Given the description of an element on the screen output the (x, y) to click on. 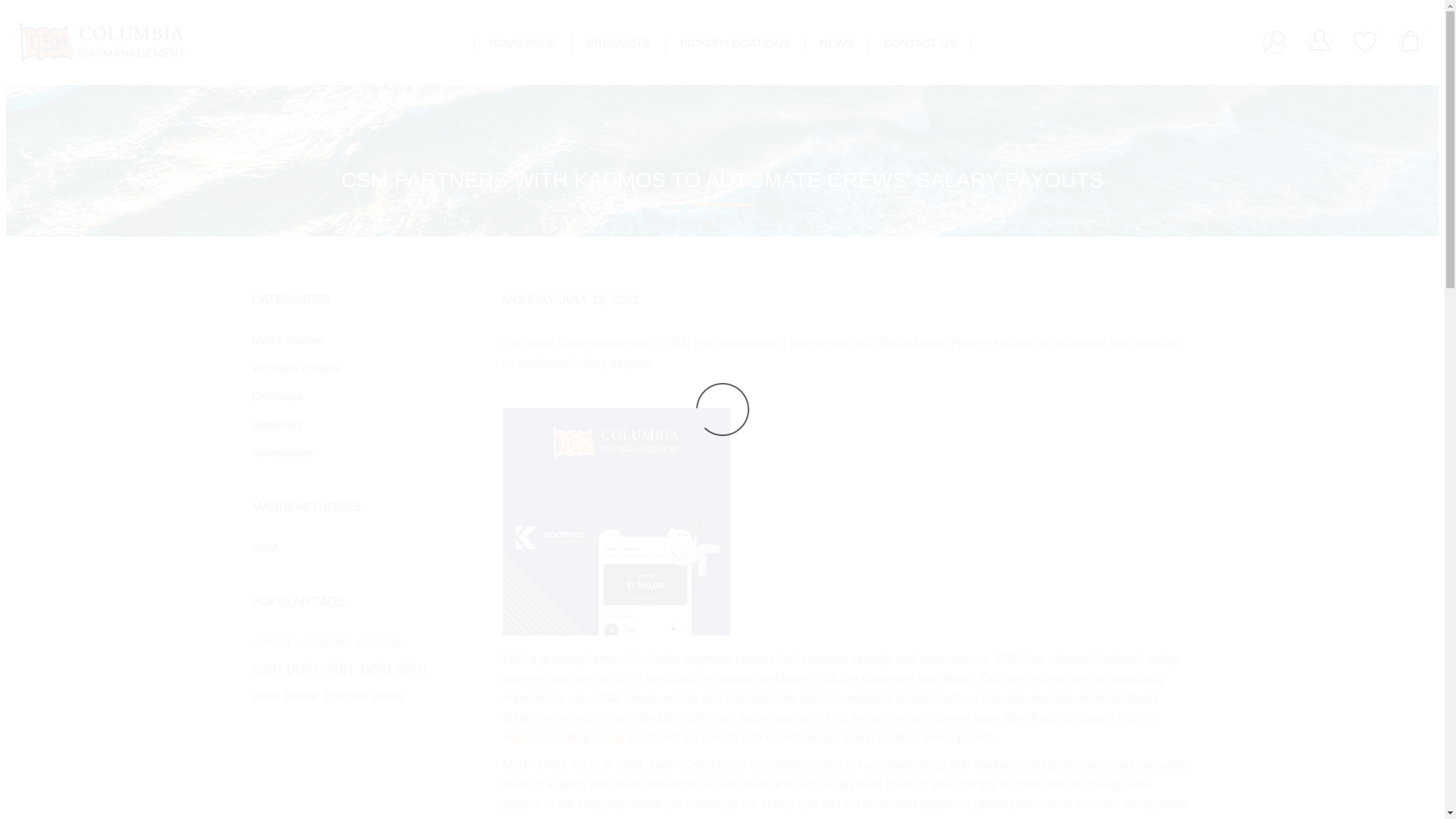
PICKUP LOCATIONS (735, 42)
Home Page (523, 42)
HOME PAGE (523, 42)
CSM E-SHOP (102, 42)
